Given the description of an element on the screen output the (x, y) to click on. 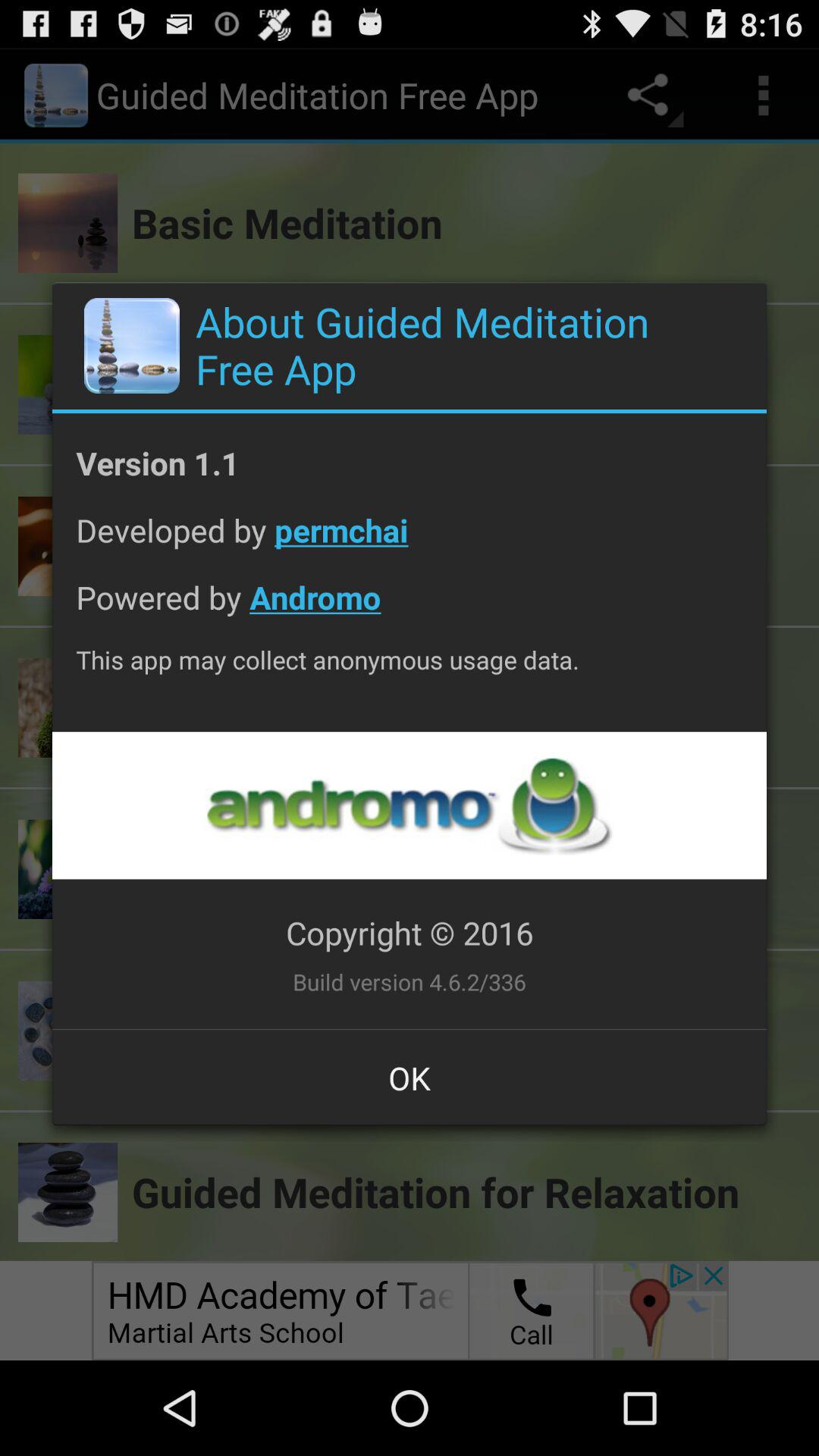
press the app below developed by permchai icon (409, 608)
